Given the description of an element on the screen output the (x, y) to click on. 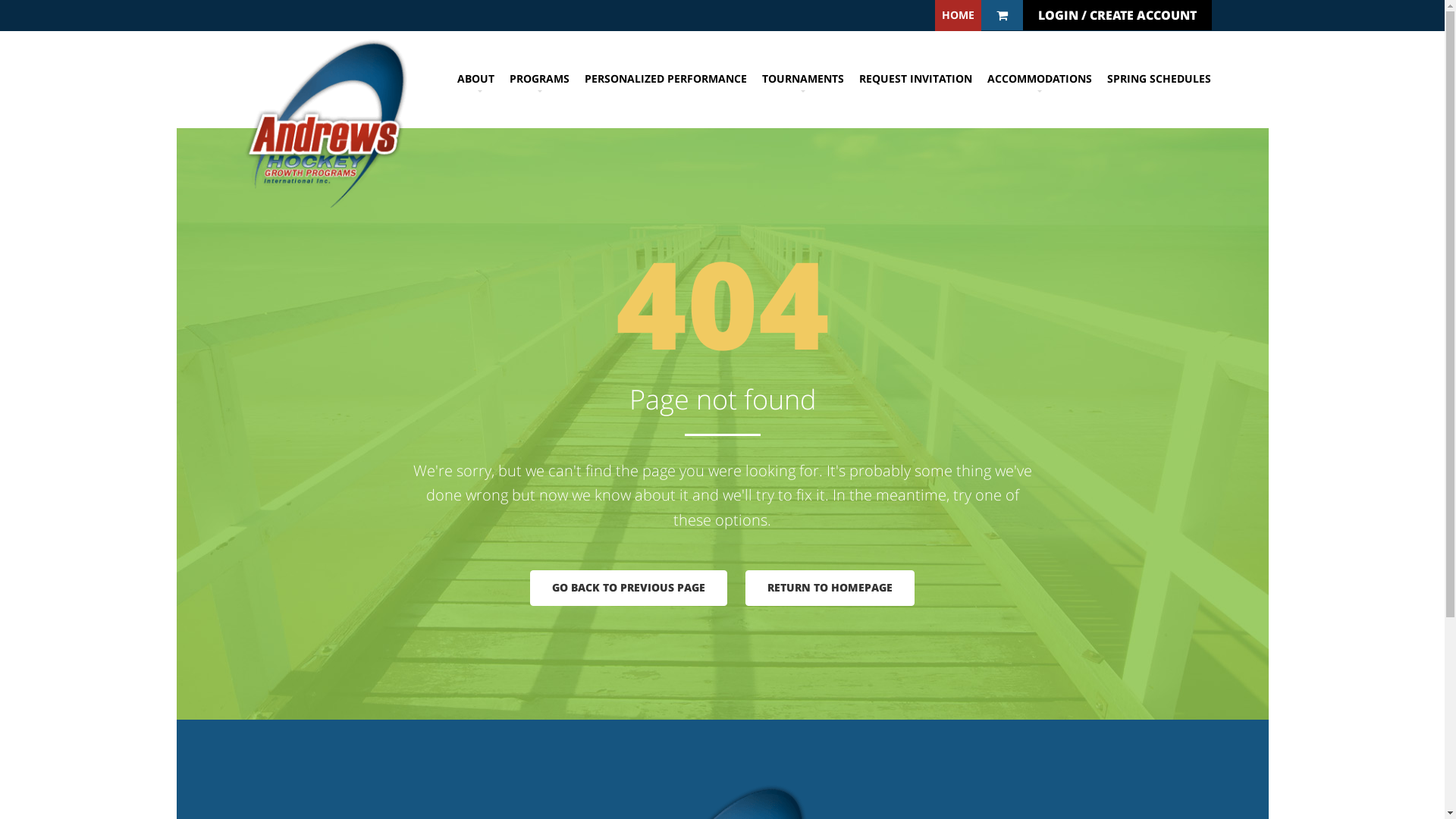
GO BACK TO PREVIOUS PAGE Element type: text (628, 587)
LOGIN / CREATE ACCOUNT Element type: text (1116, 15)
RETURN TO HOMEPAGE Element type: text (829, 587)
HOME Element type: text (957, 15)
ACCOMMODATIONS Element type: text (1039, 78)
View your shopping cart Element type: hover (1001, 15)
SPRING SCHEDULES Element type: text (1155, 78)
ABOUT Element type: text (479, 78)
PERSONALIZED PERFORMANCE Element type: text (665, 78)
PROGRAMS Element type: text (539, 78)
REQUEST INVITATION Element type: text (915, 78)
TOURNAMENTS Element type: text (802, 78)
